Given the description of an element on the screen output the (x, y) to click on. 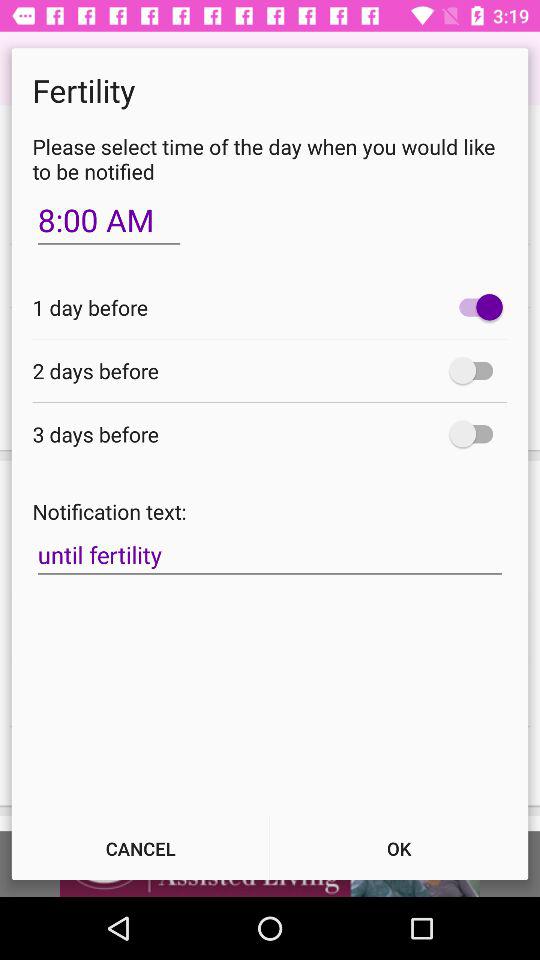
toggle 3 days before option (476, 433)
